Given the description of an element on the screen output the (x, y) to click on. 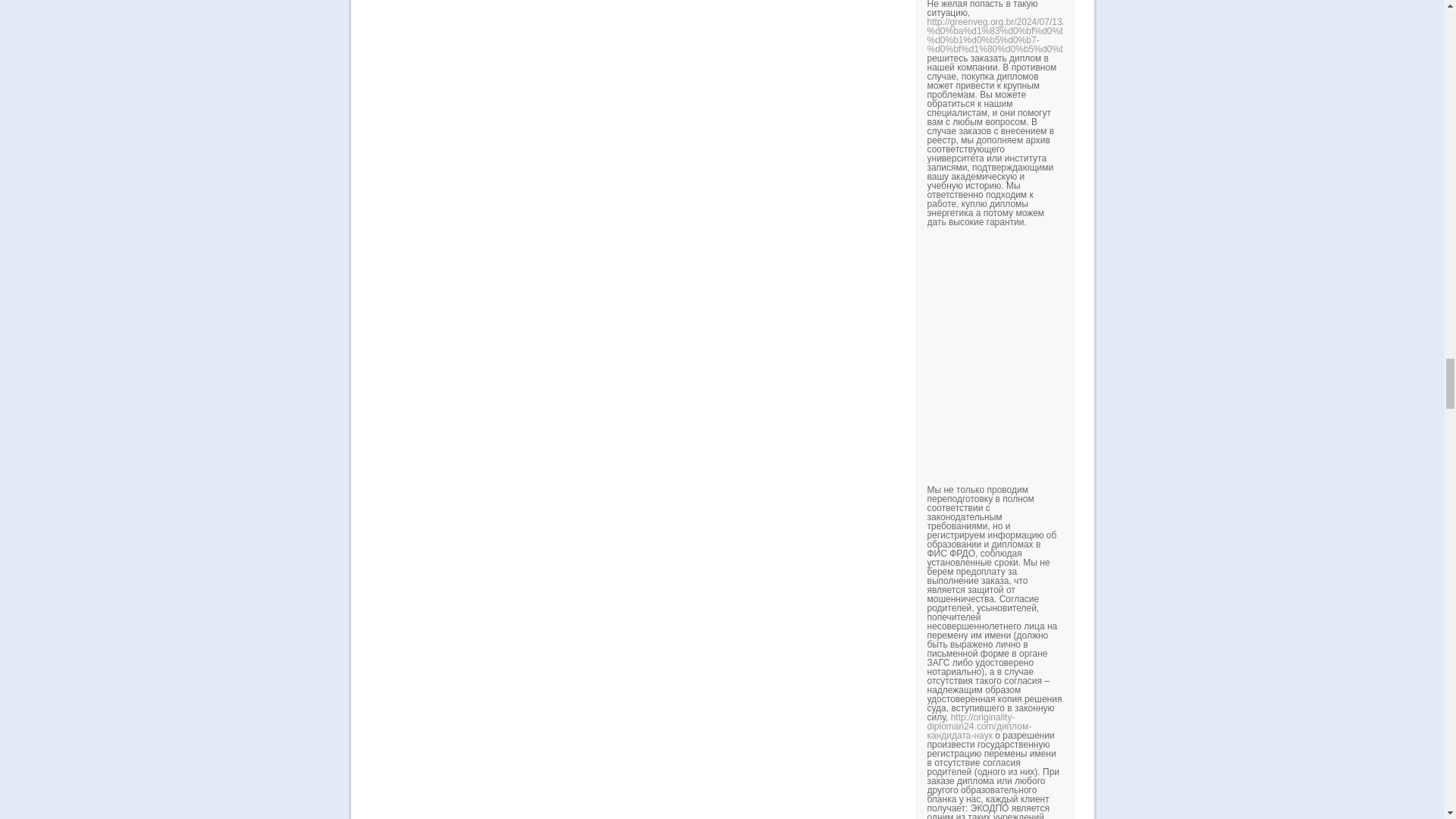
YouTube video player (1138, 355)
